Given the description of an element on the screen output the (x, y) to click on. 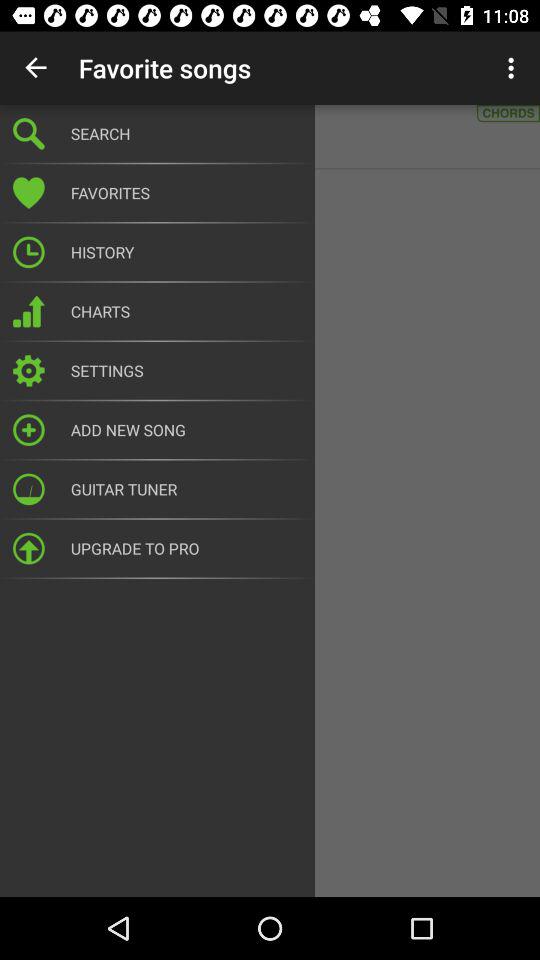
flip until charts icon (185, 311)
